Given the description of an element on the screen output the (x, y) to click on. 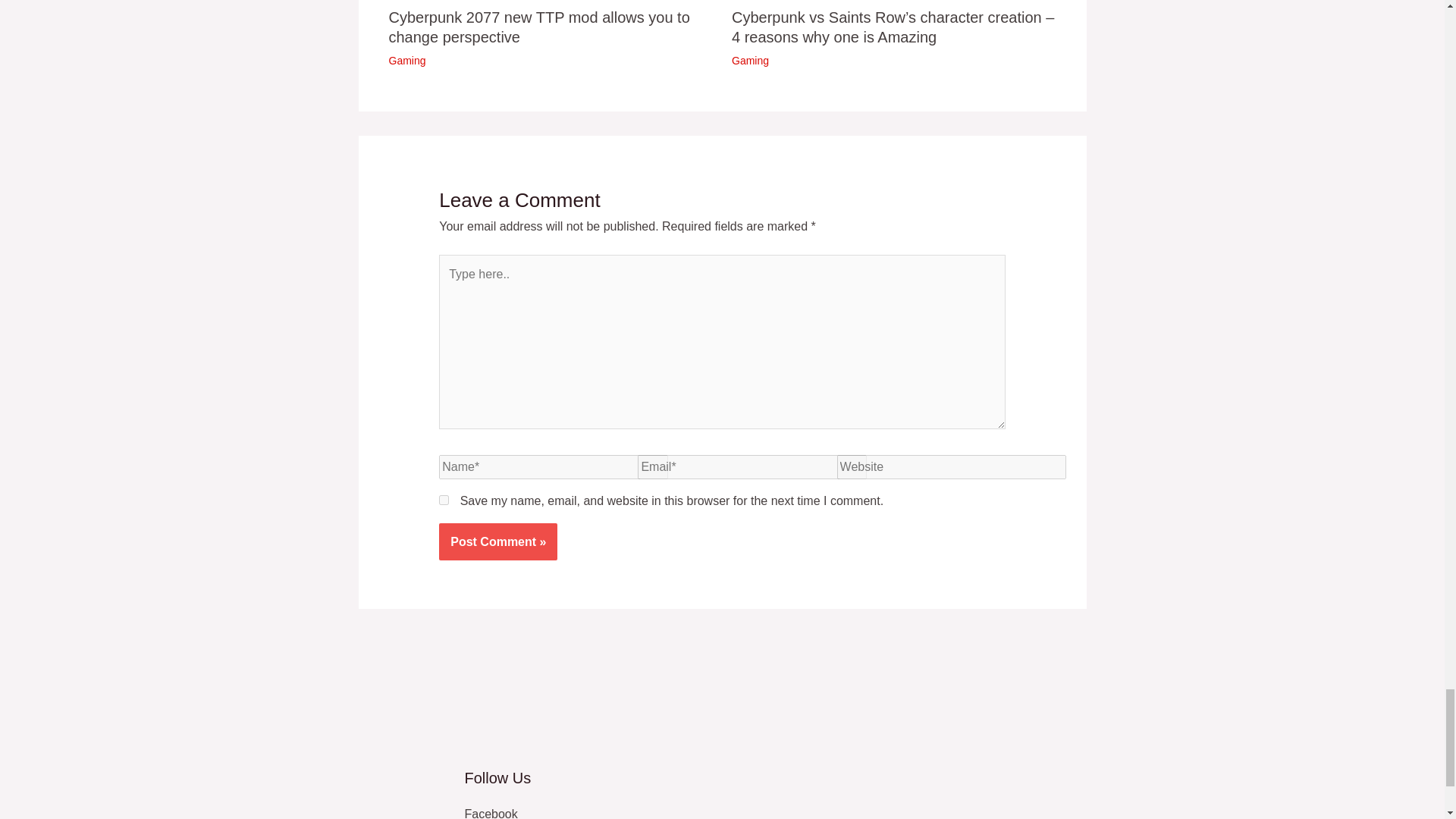
yes (443, 500)
